Given the description of an element on the screen output the (x, y) to click on. 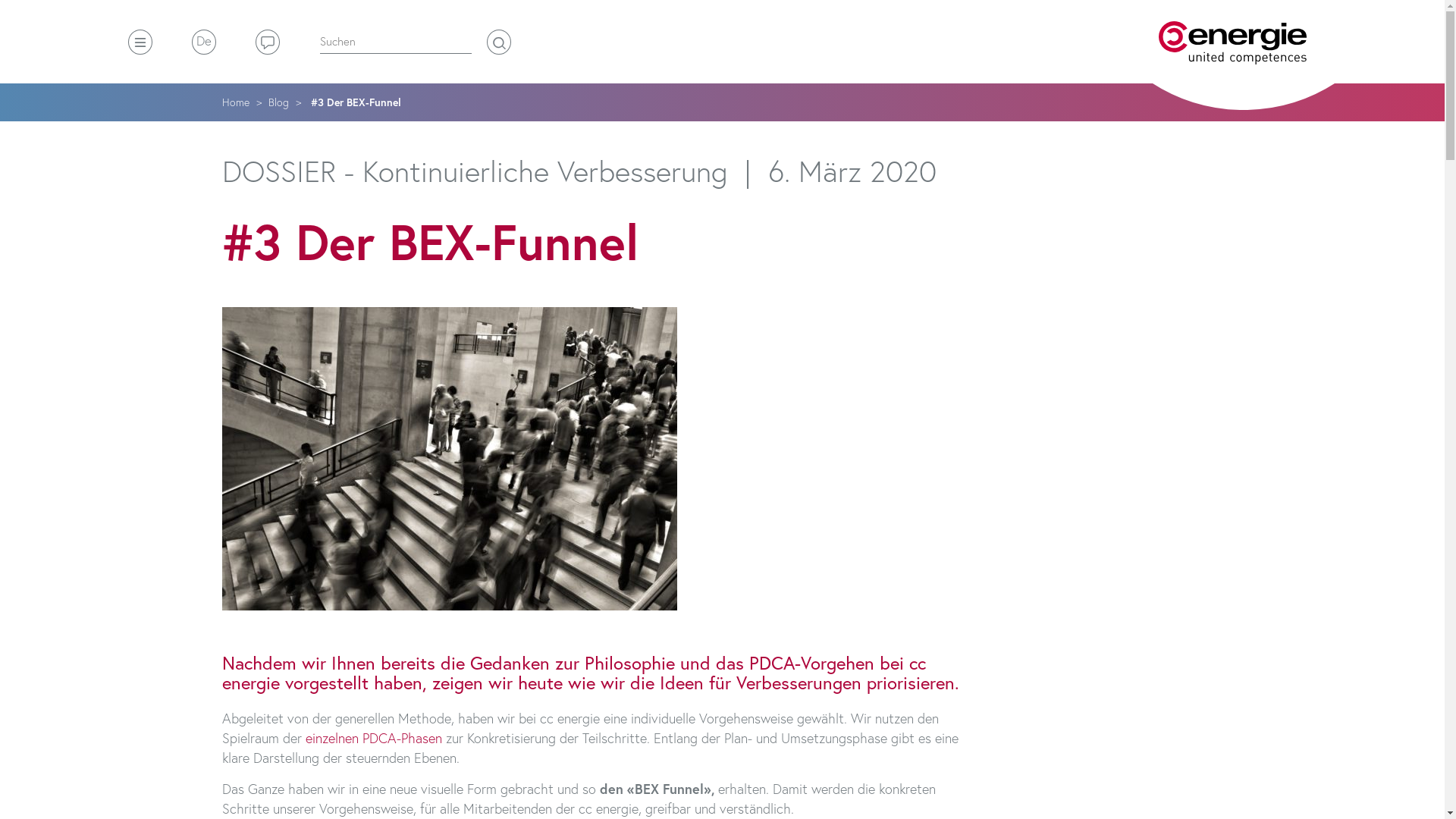
Feature image Element type: hover (448, 458)
Menu Element type: hover (139, 41)
De Element type: text (203, 41)
Philosophie und das PDCA-Vorgehen bei cc energie Element type: text (573, 672)
Contact Element type: hover (266, 41)
Home Element type: hover (1232, 42)
Home Element type: text (234, 101)
Blog Element type: text (278, 101)
einzelnen PDCA-Phasen Element type: text (372, 737)
